Given the description of an element on the screen output the (x, y) to click on. 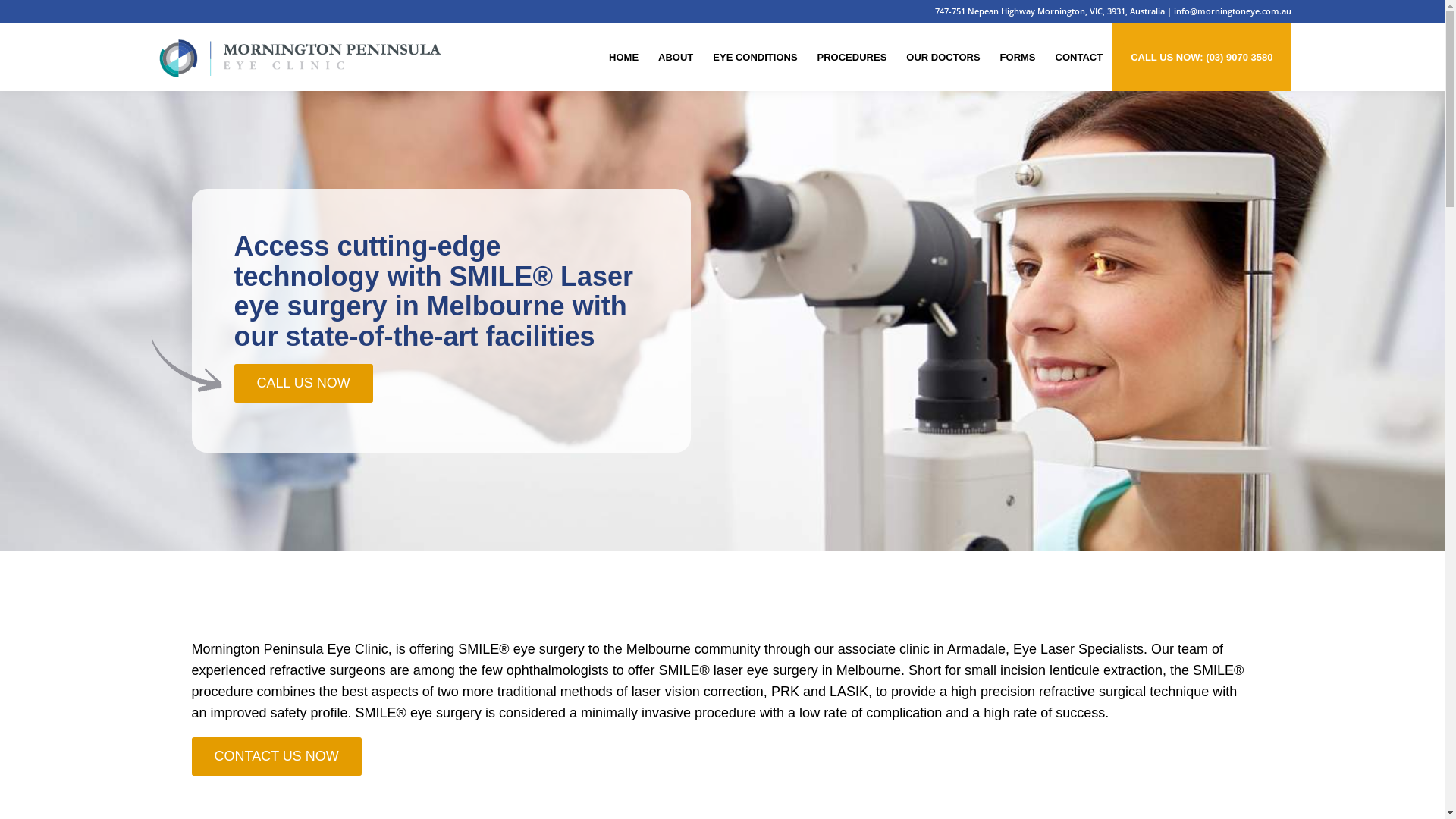
arrow-right4 Element type: hover (186, 363)
CONTACT Element type: text (1079, 56)
OUR DOCTORS Element type: text (942, 56)
CALL US NOW: (03) 9070 3580 Element type: text (1201, 56)
PROCEDURES Element type: text (852, 56)
ABOUT Element type: text (675, 56)
HOME Element type: text (623, 56)
CALL US NOW Element type: text (302, 383)
info@morningtoneye.com.au Element type: text (1232, 10)
747-751 Nepean Highway Mornington, VIC, 3931, Australia Element type: text (1050, 10)
FORMS Element type: text (1017, 56)
EYE CONDITIONS Element type: text (754, 56)
CONTACT US NOW Element type: text (275, 756)
